Given the description of an element on the screen output the (x, y) to click on. 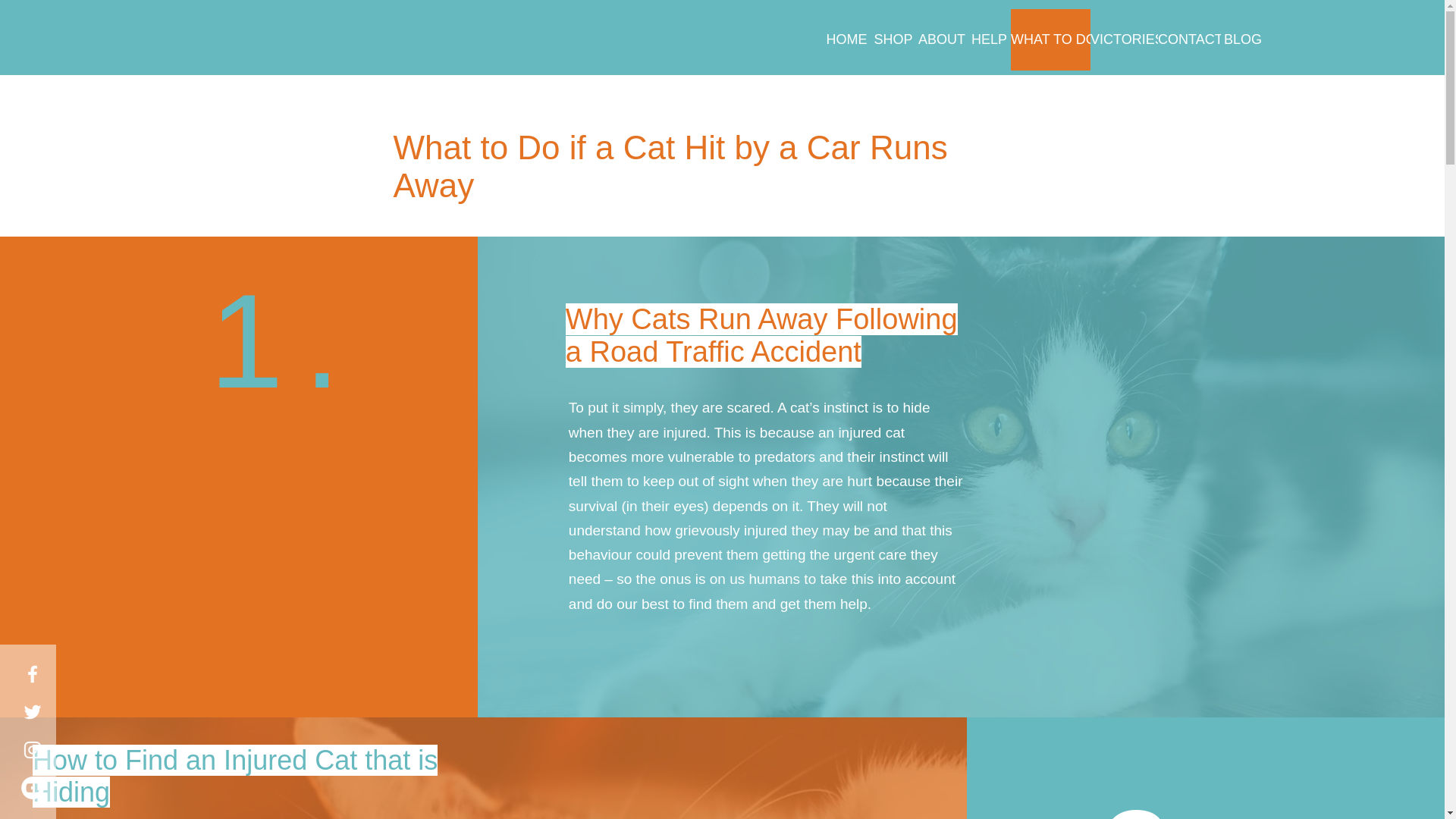
CONTACT (1189, 39)
VICTORIES (1123, 39)
WHAT TO DO (1050, 39)
